Given the description of an element on the screen output the (x, y) to click on. 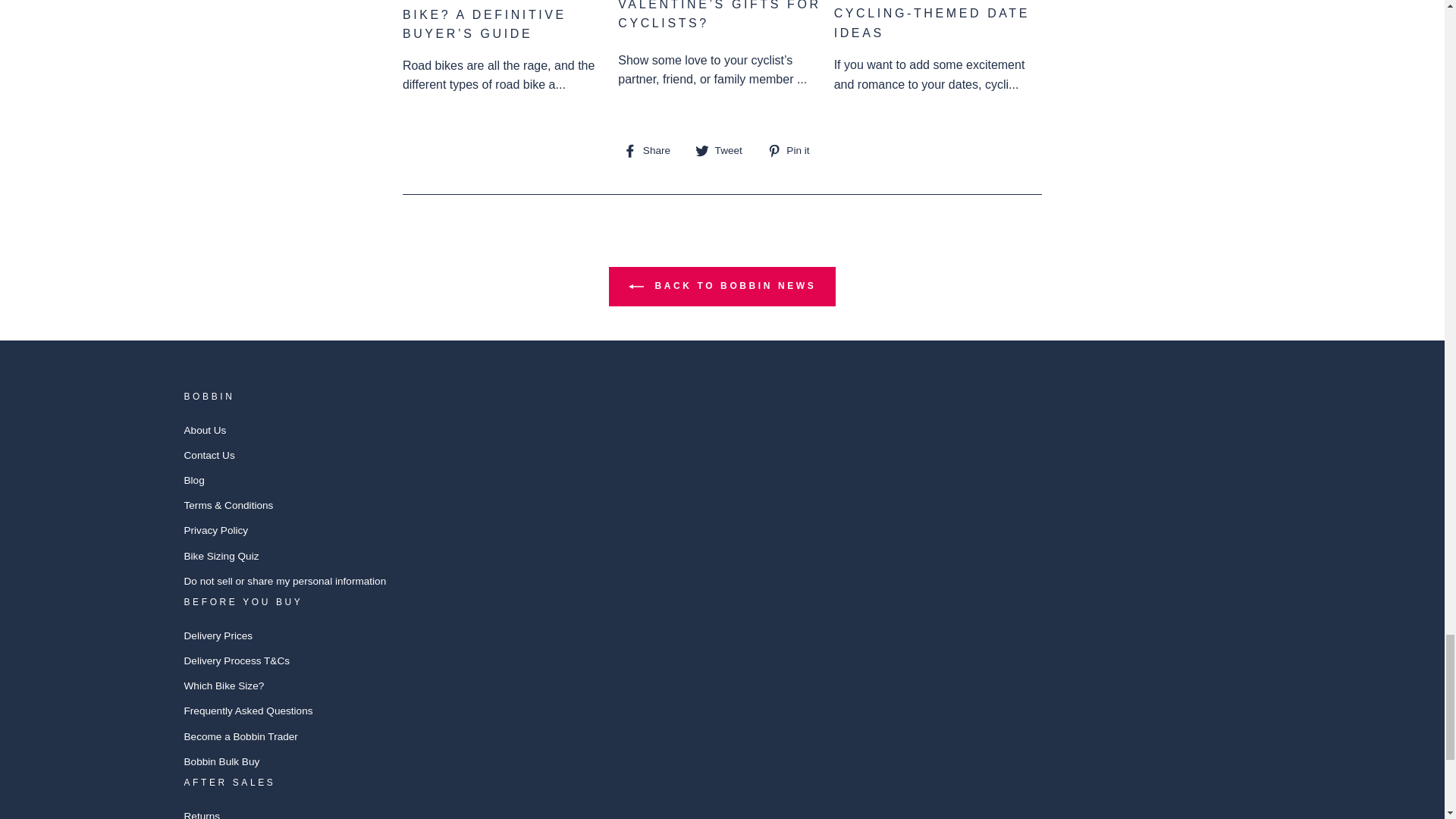
Tweet on Twitter (724, 149)
Share on Facebook (652, 149)
Pin on Pinterest (794, 149)
